Given the description of an element on the screen output the (x, y) to click on. 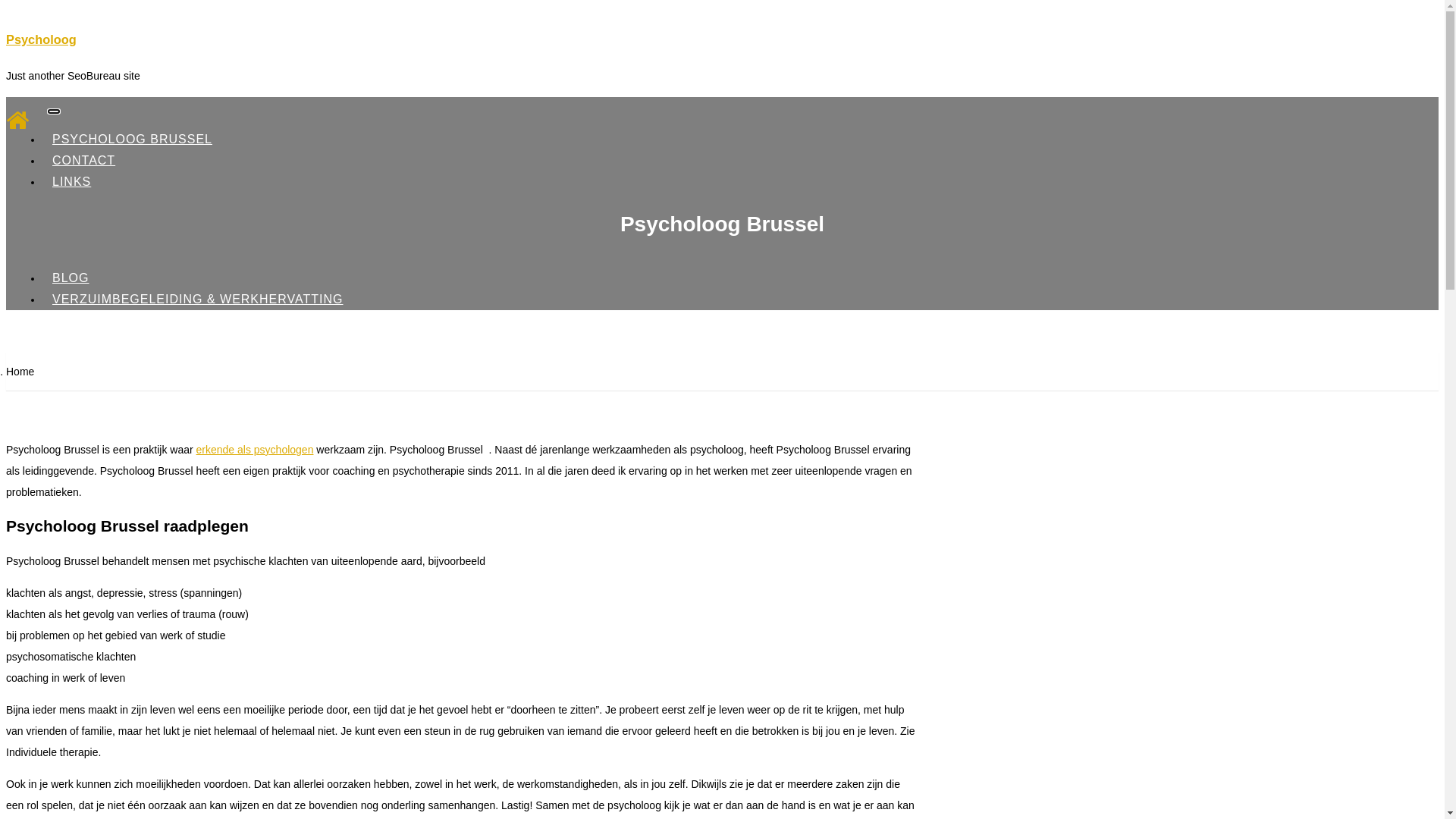
erkende als psychologen Element type: text (254, 449)
PSYCHOLOOG BRUSSEL Element type: text (132, 138)
Ga naar de inhoud Element type: text (5, 5)
search_icon Element type: hover (899, 355)
Toggle navigatie Element type: text (53, 111)
LINKS Element type: text (71, 181)
BLOG Element type: text (70, 277)
VERZUIMBEGELEIDING & WERKHERVATTING Element type: text (197, 298)
CONTACT Element type: text (83, 160)
Psycholoog Element type: text (41, 39)
